Given the description of an element on the screen output the (x, y) to click on. 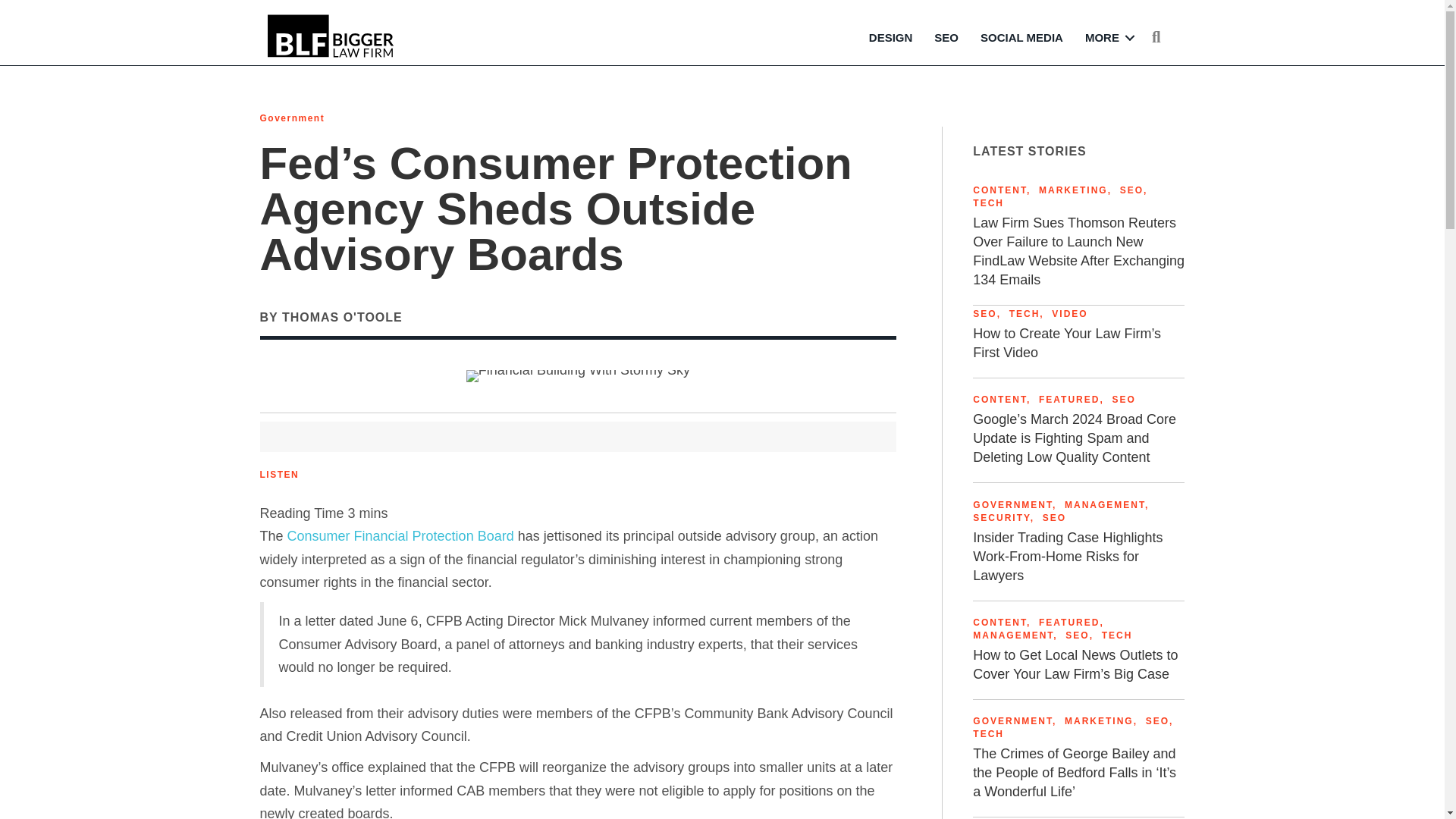
CONTENT (999, 190)
SEO (1053, 517)
SECURITY (1000, 517)
Consumer Financial Protection Board (399, 535)
Government (291, 118)
SEO (946, 37)
FEATURED (1069, 398)
SEO (1130, 190)
